Given the description of an element on the screen output the (x, y) to click on. 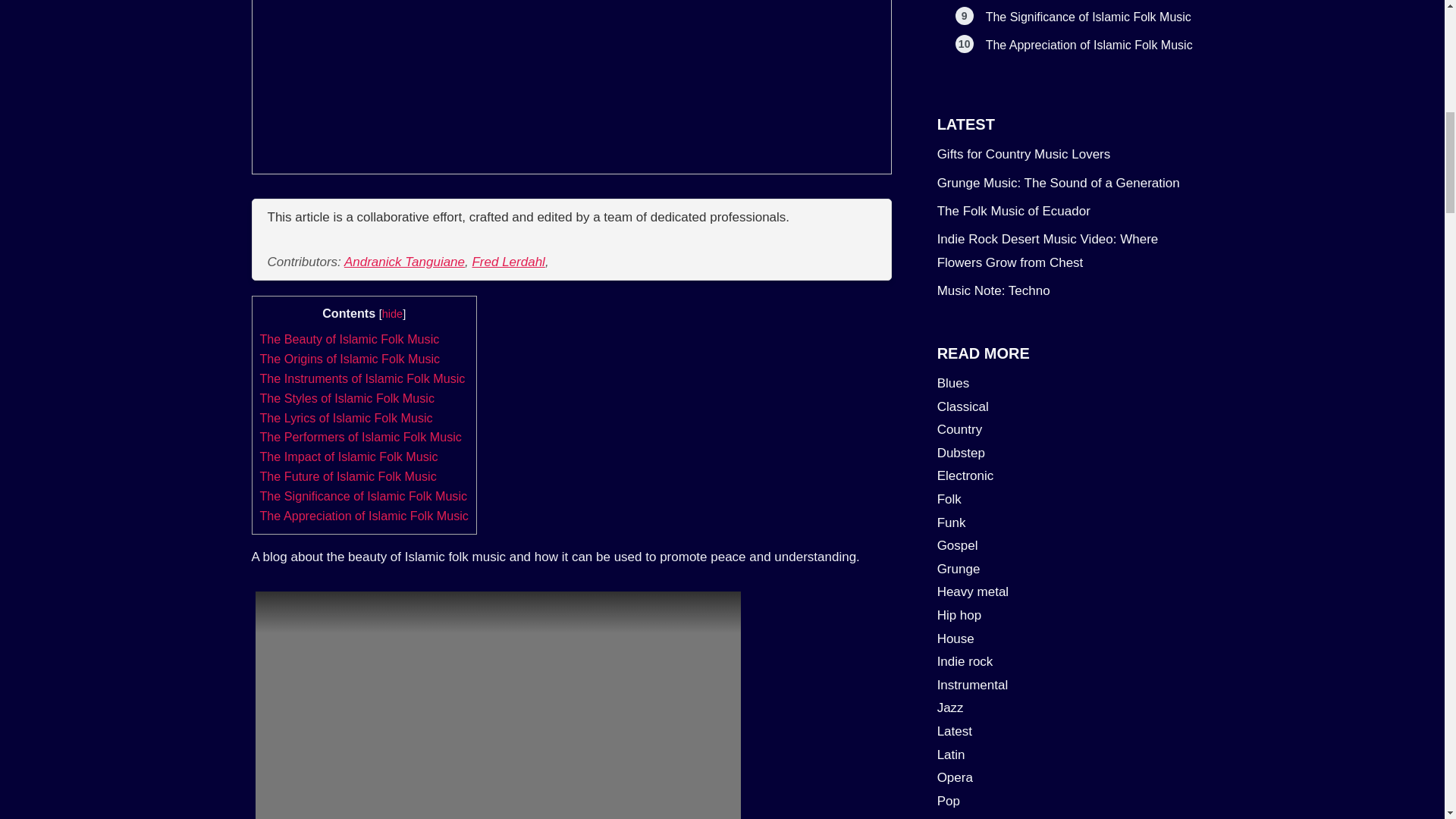
The Lyrics of Islamic Folk Music (345, 418)
The Styles of Islamic Folk Music (346, 397)
The Origins of Islamic Folk Music (349, 358)
The Beauty of Islamic Folk Music (349, 338)
The Instruments of Islamic Folk Music (361, 377)
The Impact of Islamic Folk Music (348, 456)
hide (392, 313)
The Significance of Islamic Folk Music (363, 495)
The Appreciation of Islamic Folk Music (363, 515)
The Performers of Islamic Folk Music (360, 436)
